Given the description of an element on the screen output the (x, y) to click on. 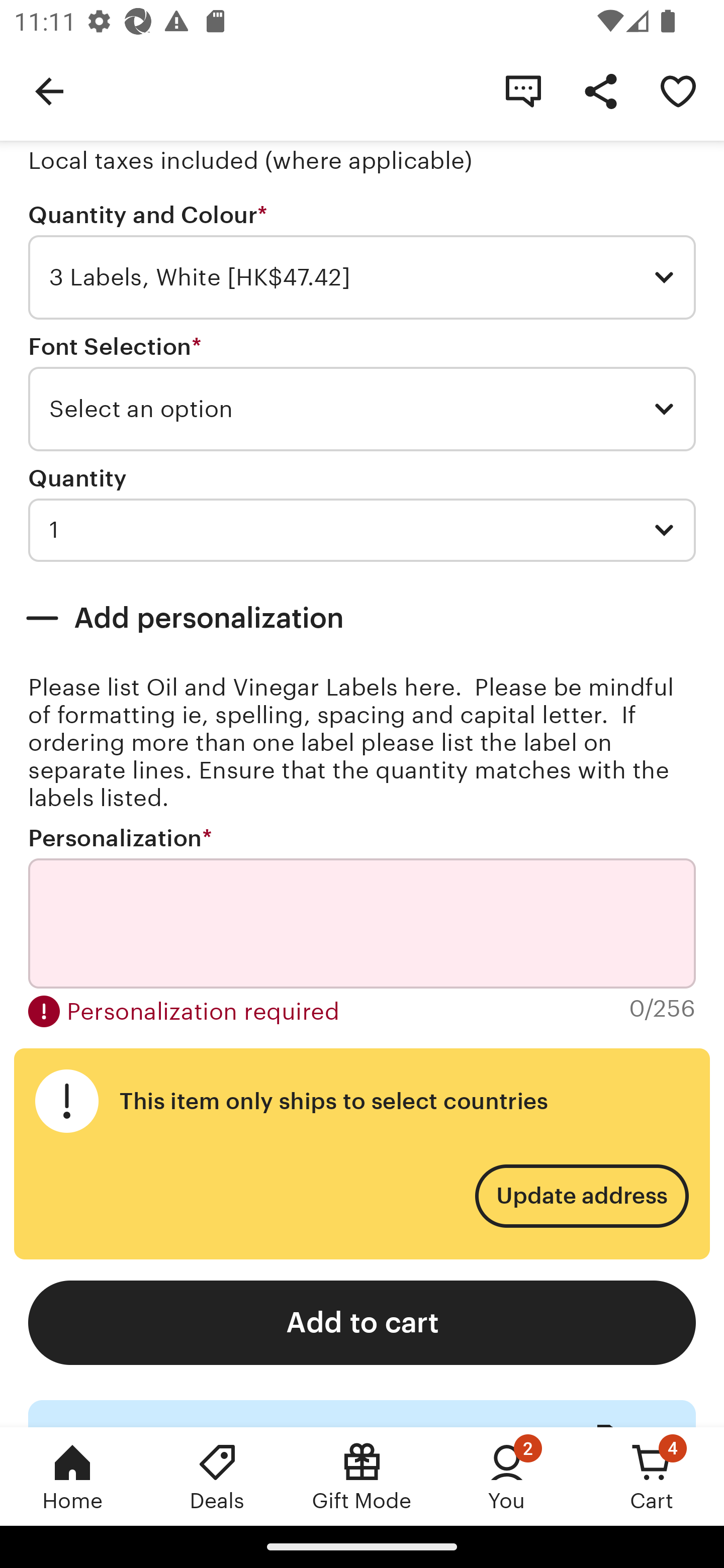
Navigate up (49, 90)
Contact shop (523, 90)
Share (600, 90)
3 Labels, White [HK$47.42] (361, 277)
Font Selection * Required Select an option (361, 392)
Select an option (361, 408)
Quantity (77, 477)
1 (361, 529)
Add personalization Add personalization Required (362, 617)
Update address (581, 1196)
Add to cart (361, 1323)
Deals (216, 1475)
Gift Mode (361, 1475)
You, 2 new notifications You (506, 1475)
Cart, 4 new notifications Cart (651, 1475)
